Given the description of an element on the screen output the (x, y) to click on. 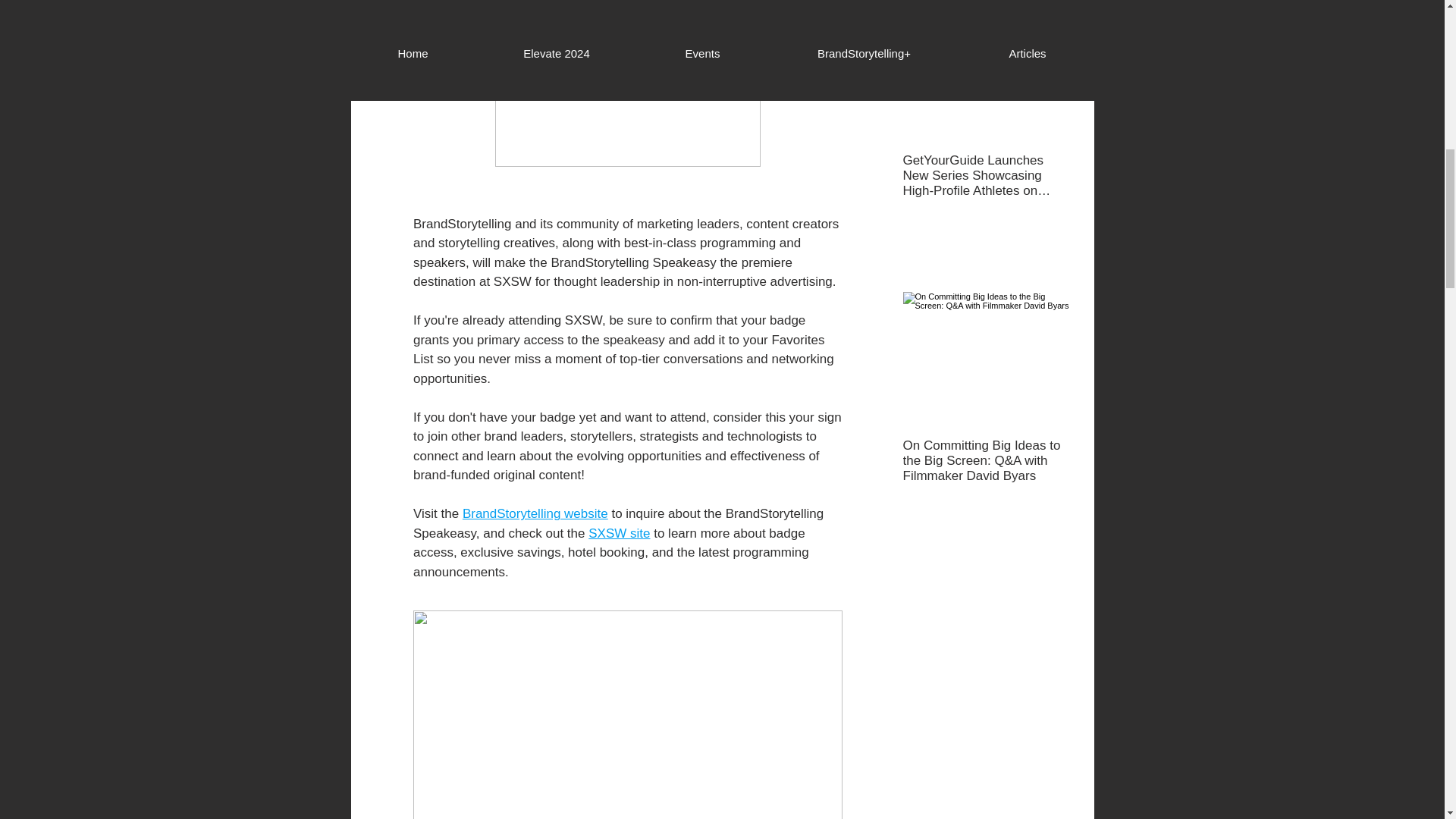
BrandStorytelling website (534, 513)
SXSW site (618, 533)
